Given the description of an element on the screen output the (x, y) to click on. 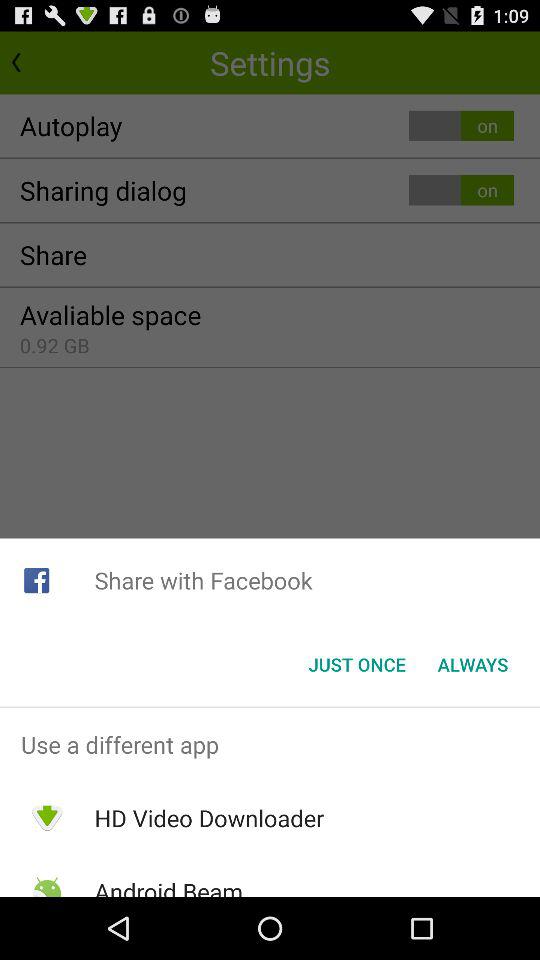
select the app below hd video downloader app (168, 885)
